Given the description of an element on the screen output the (x, y) to click on. 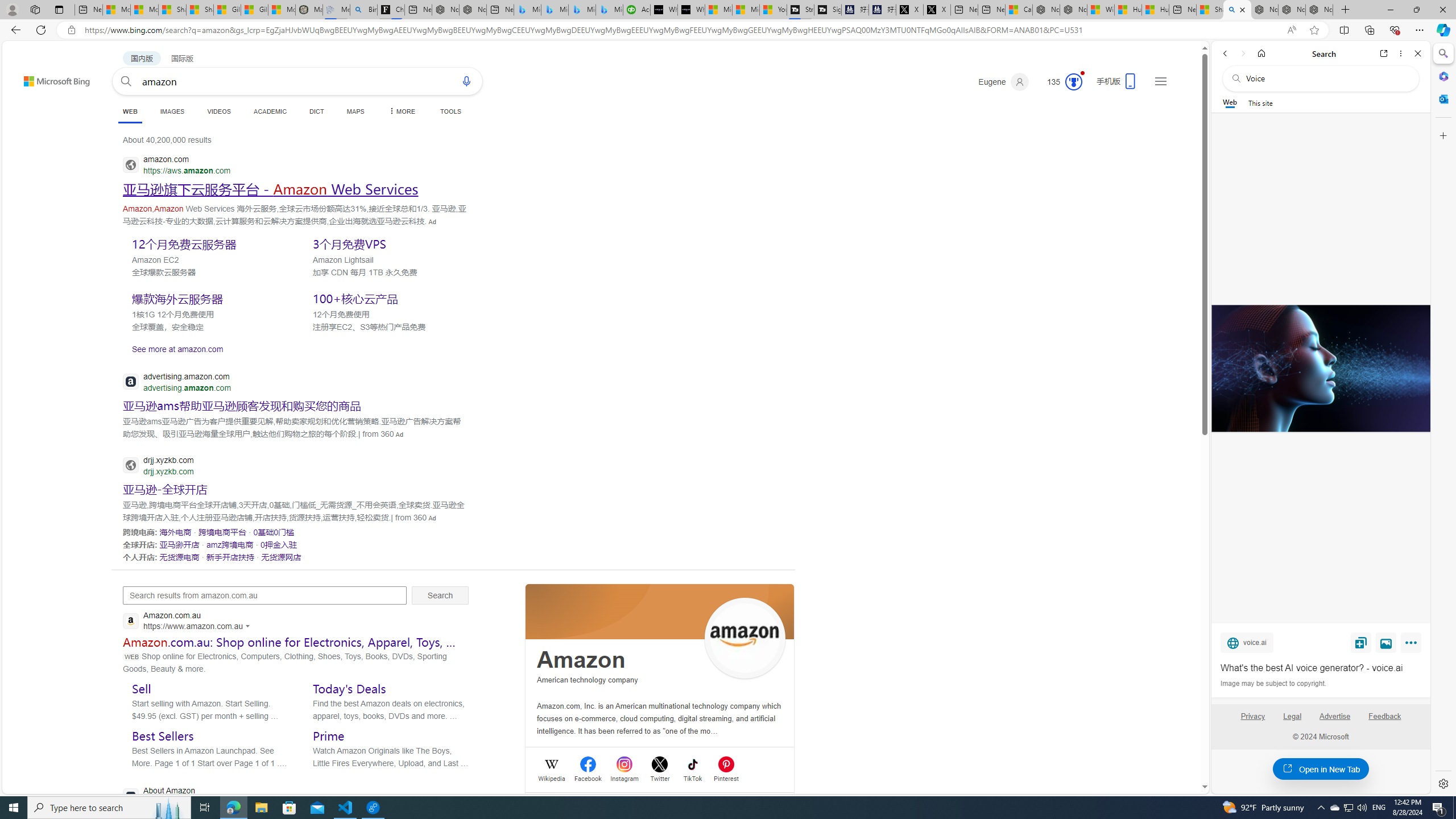
Back (1225, 53)
Feedback (1384, 720)
Refresh (40, 29)
SERP,5553 (388, 298)
Skip to content (35, 76)
Class: spl_logobg (659, 611)
SERP,5568 (273, 532)
Instagram (624, 777)
Dropdown Menu (400, 111)
Wikipedia (551, 777)
Actions for this site (249, 625)
Huge shark washes ashore at New York City beach | Watch (1155, 9)
